Given the description of an element on the screen output the (x, y) to click on. 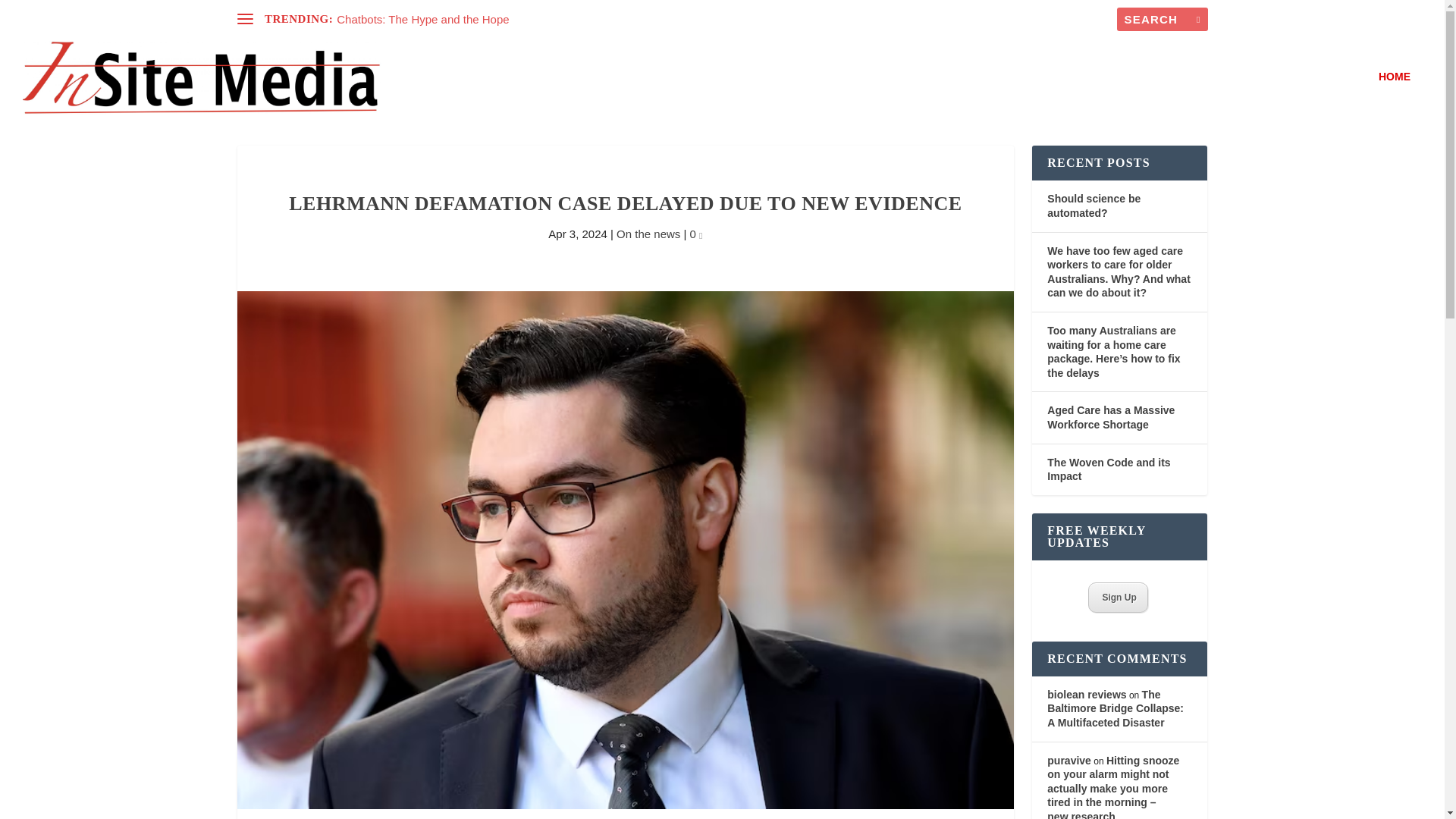
On the news (647, 233)
Should science be automated? (1093, 205)
Search for: (1161, 19)
The Woven Code and its Impact (1108, 469)
Chatbots: The Hype and the Hope (422, 19)
 Sign Up (1117, 597)
0 (696, 233)
Aged Care has a Massive Workforce Shortage (1110, 417)
biolean reviews (1085, 694)
